Given the description of an element on the screen output the (x, y) to click on. 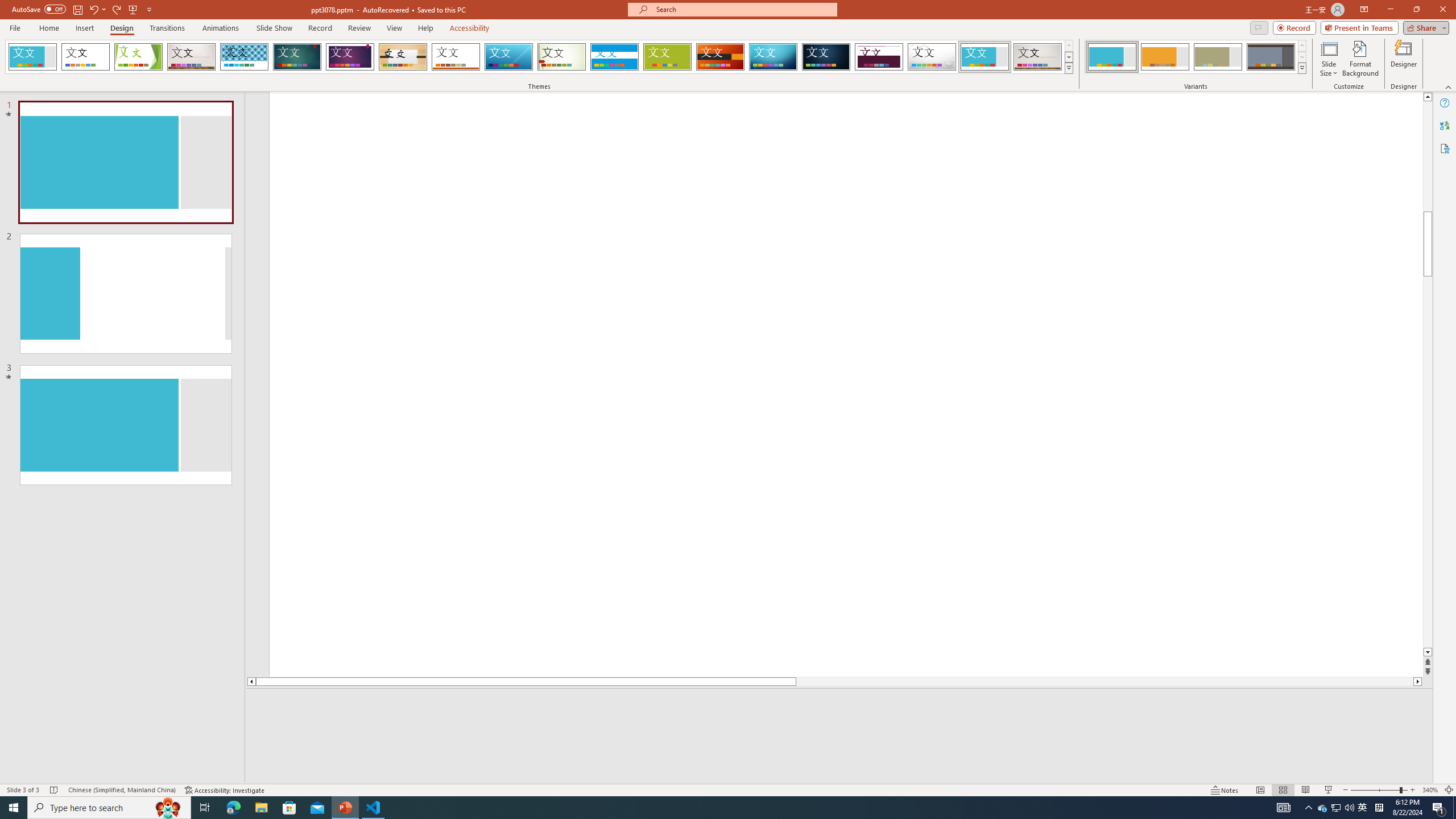
Droplet (931, 56)
Frame Variant 1 (1112, 56)
Slide Size (1328, 58)
An abstract genetic concept (845, 383)
Gallery (1037, 56)
Circuit (772, 56)
